Given the description of an element on the screen output the (x, y) to click on. 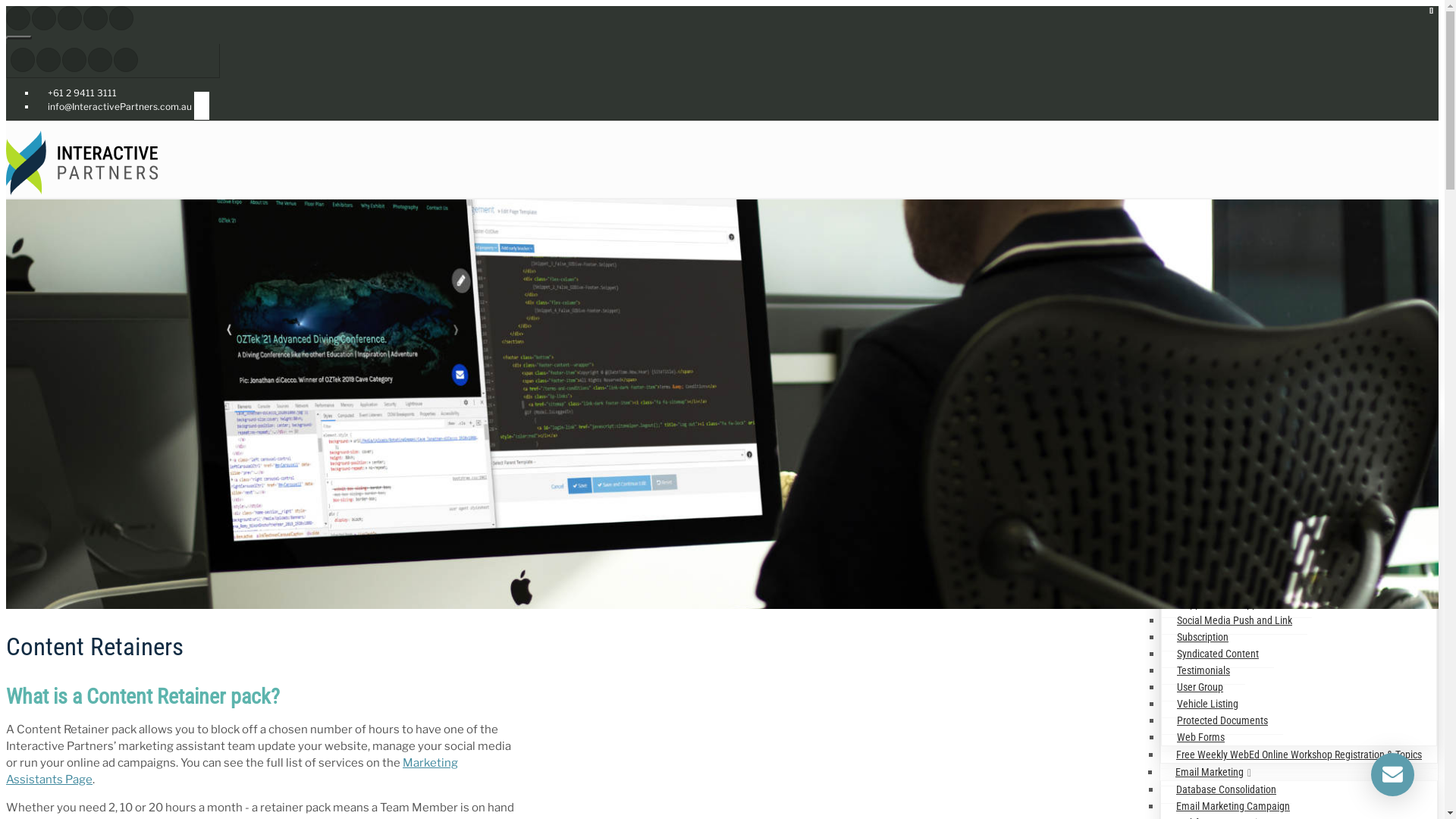
Our Products Element type: text (1208, 399)
Our Services Element type: text (1198, 242)
Social Media Push and Link Element type: text (1234, 620)
Web Forms Element type: text (1200, 737)
Content Retainers Element type: text (1205, 262)
Newsletter Element type: text (1199, 487)
Marketing Assistants Page Element type: text (232, 771)
Zoho Integration Services Element type: text (1221, 296)
Secure Customer Portals Element type: text (1228, 570)
Secure Sections Element type: text (1209, 587)
Content Management System Element type: text (1238, 418)
Custom Development Element type: text (1213, 279)
Testimonials Element type: text (1203, 670)
Free Weekly WebEd Online Workshop Registration & Topics Element type: text (1299, 754)
Rotating Images Element type: text (1211, 537)
Snippets and Snippet Effects Element type: text (1236, 603)
Web Design and Development Element type: text (1230, 381)
SEO Scoring Element type: text (1201, 553)
Outsourcing Element type: text (1192, 347)
Subscription Element type: text (1202, 637)
Email Marketing Element type: text (1209, 772)
Marketing Assistants Element type: text (1211, 330)
Page Content Editor Element type: text (1218, 453)
Vehicle Listing Element type: text (1207, 704)
Syndicated Content Element type: text (1217, 654)
Protected Documents Element type: text (1222, 720)
User Group Element type: text (1199, 687)
Page Auditing Element type: text (1206, 503)
Events Element type: text (1190, 470)
eCommerce Platform Element type: text (1212, 314)
Database Consolidation Element type: text (1226, 789)
Photo Gallery Element type: text (1204, 520)
Core Modules of WebEd Element type: text (1226, 436)
Self Service SEO Element type: text (1201, 364)
